Given the description of an element on the screen output the (x, y) to click on. 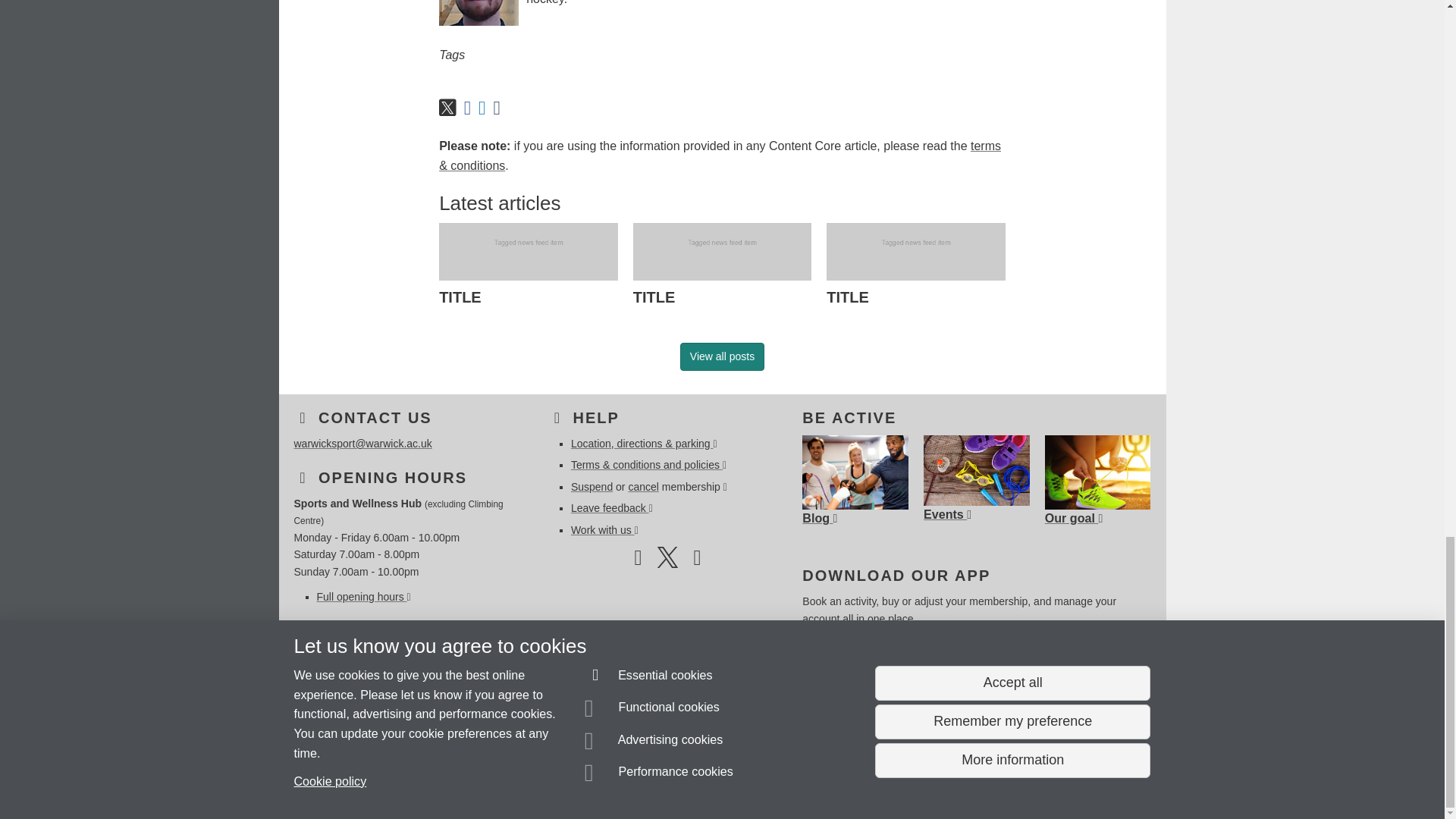
Information about cookies (467, 780)
Full opening hours (363, 596)
Terms of use (708, 780)
Copyright Statement (514, 780)
Warwick Sport on Facebook (637, 561)
More information about SiteBuilder (365, 780)
Warwick Sport on Instagram (697, 561)
Privacy notice (673, 780)
Send an email to Warwick Sport (380, 751)
Warwick Sport on Twitter (667, 561)
View all posts (721, 356)
